Given the description of an element on the screen output the (x, y) to click on. 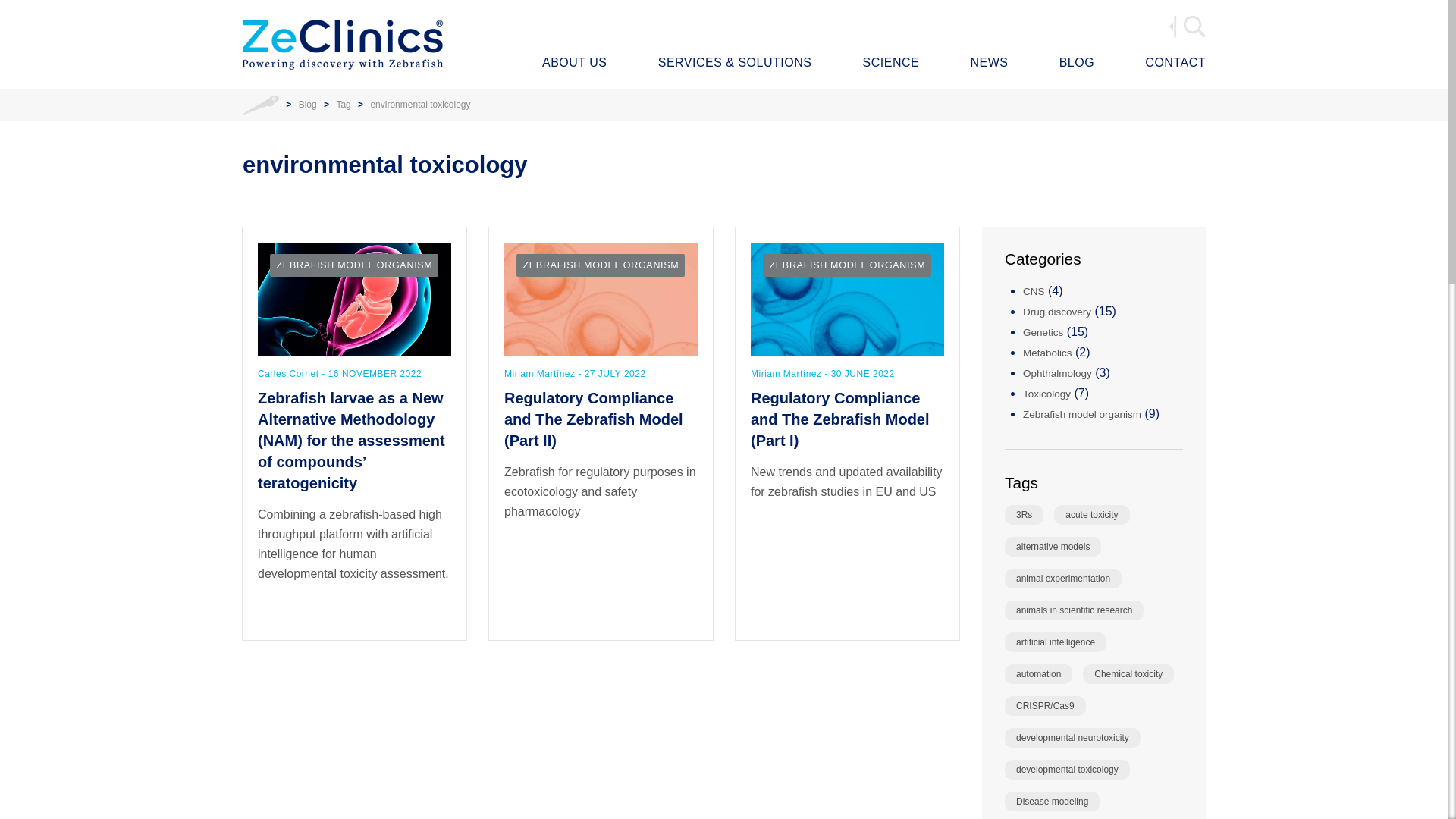
About us (574, 63)
News (988, 63)
Blog (307, 104)
Home (261, 104)
Nuestros Servicios (735, 63)
Blog (1076, 63)
ABOUT US (574, 63)
Contact (1174, 63)
Science (891, 63)
